Given the description of an element on the screen output the (x, y) to click on. 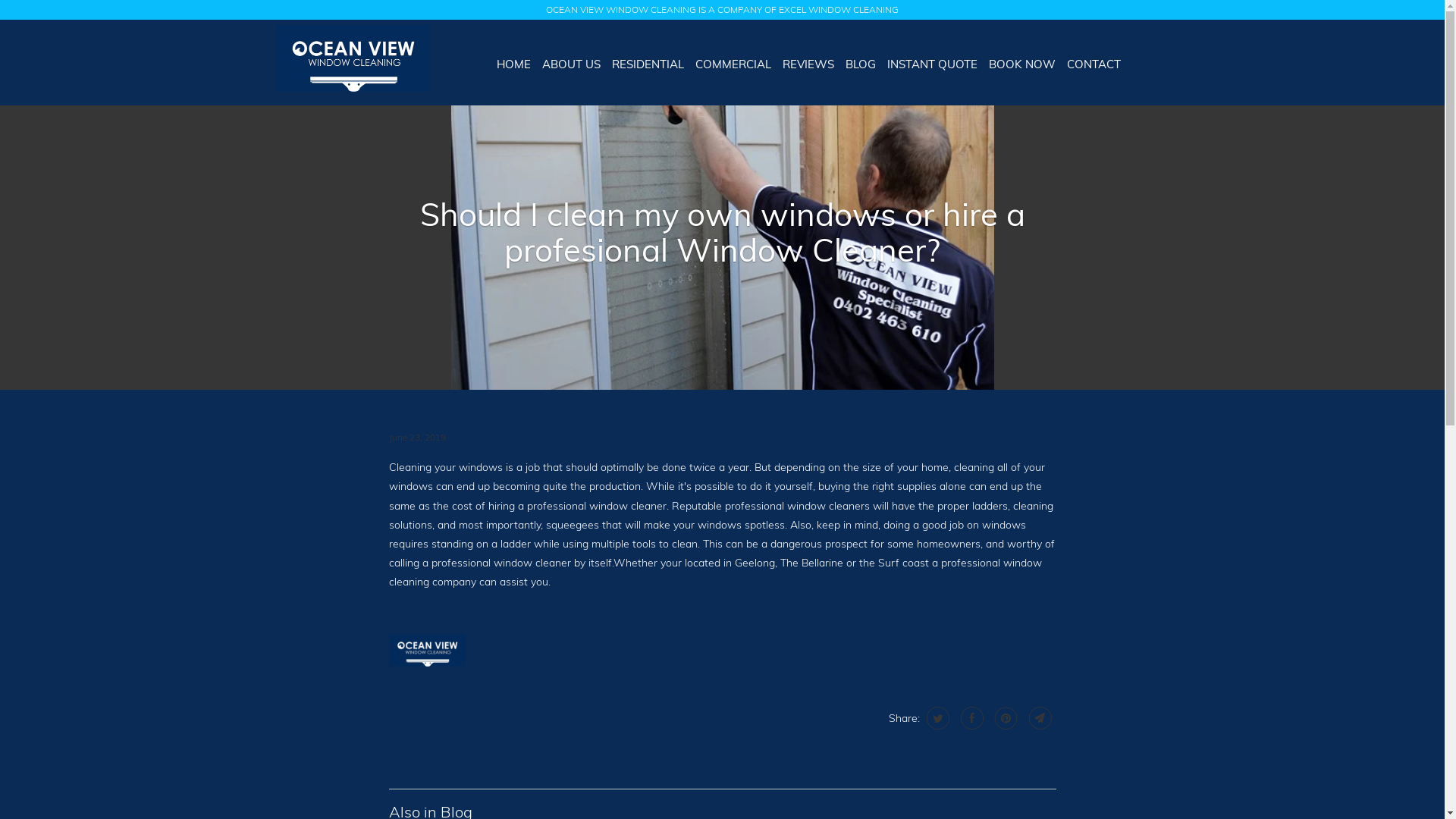
BOOK NOW Element type: text (1021, 63)
Email this to a friend Element type: hover (1038, 717)
Share this on Facebook Element type: hover (970, 717)
BLOG Element type: text (860, 63)
RESIDENTIAL Element type: text (647, 63)
CONTACT Element type: text (1093, 63)
Ocean View Window Cleaning  Element type: hover (351, 61)
REVIEWS Element type: text (808, 63)
COMMERCIAL Element type: text (733, 63)
HOME Element type: text (513, 63)
Share this on Twitter Element type: hover (935, 717)
ABOUT US Element type: text (571, 63)
INSTANT QUOTE Element type: text (932, 63)
Share this on Pinterest Element type: hover (1003, 717)
